Given the description of an element on the screen output the (x, y) to click on. 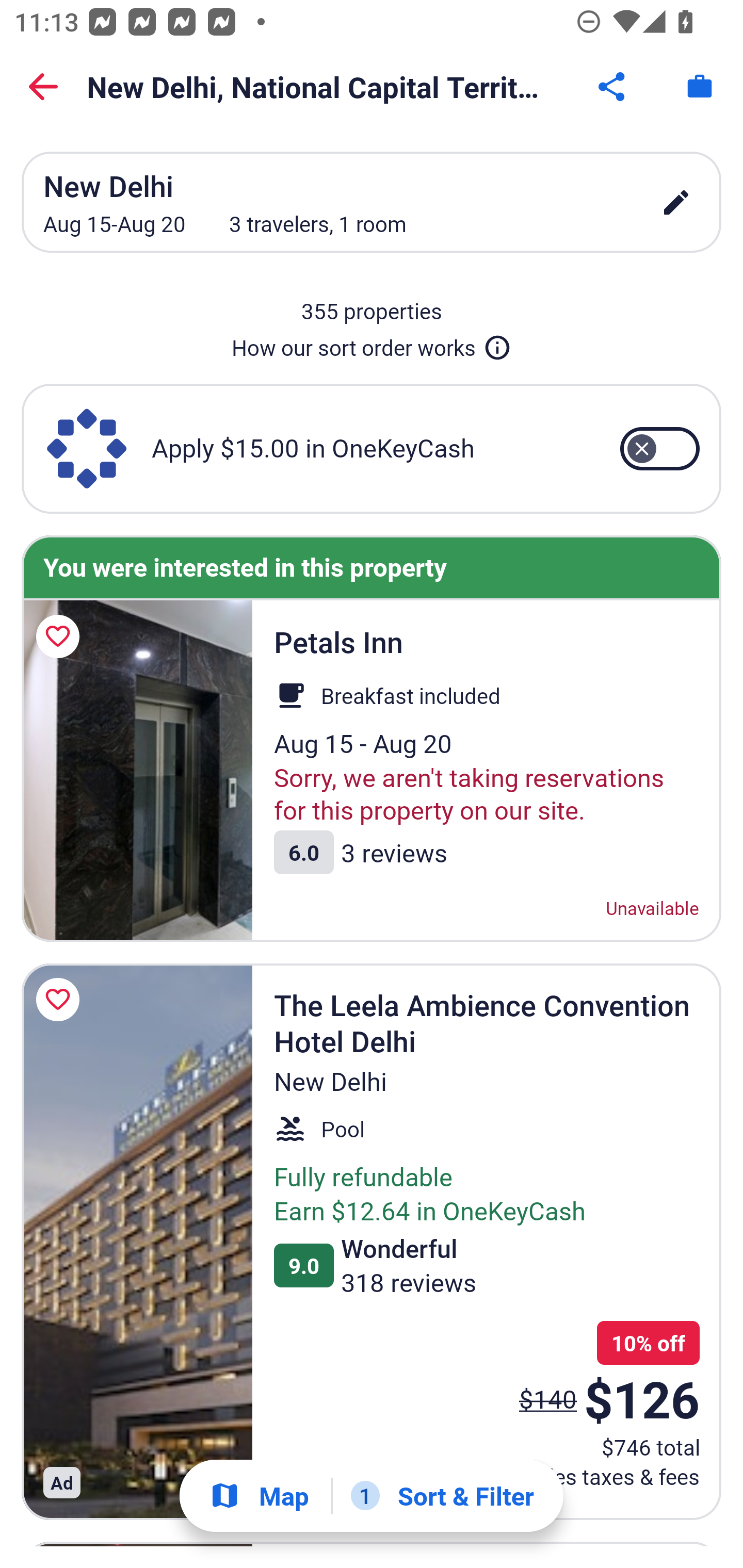
Back (43, 86)
Share Button (612, 86)
Trips. Button (699, 86)
New Delhi Aug 15-Aug 20 3 travelers, 1 room edit (371, 202)
How our sort order works (371, 344)
Save Petals Inn to a trip (61, 636)
Petals Inn (136, 771)
The Leela Ambience Convention Hotel Delhi  (136, 1240)
$140 The price was $140 (547, 1398)
1 Sort & Filter 1 Filter applied. Filters Button (442, 1495)
Show map Map Show map Button (258, 1495)
